Given the description of an element on the screen output the (x, y) to click on. 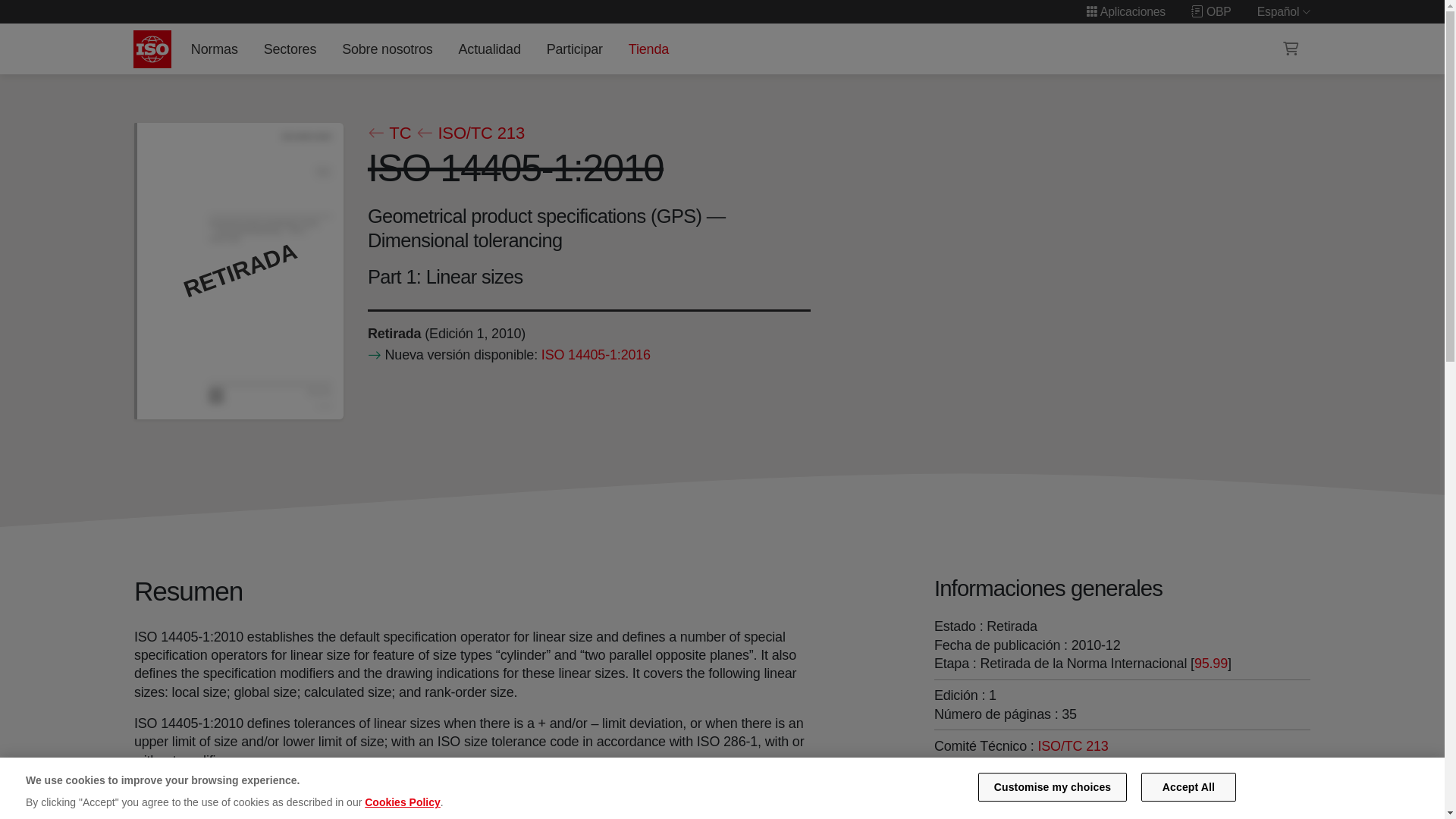
95.99 (1210, 663)
Ciclo de vida (393, 333)
 Aplicaciones (1126, 11)
Sectores (290, 48)
 OBP (1211, 11)
Limits and fits (997, 764)
Portal de aplicaciones de ISO (1126, 11)
RSS (956, 793)
